Given the description of an element on the screen output the (x, y) to click on. 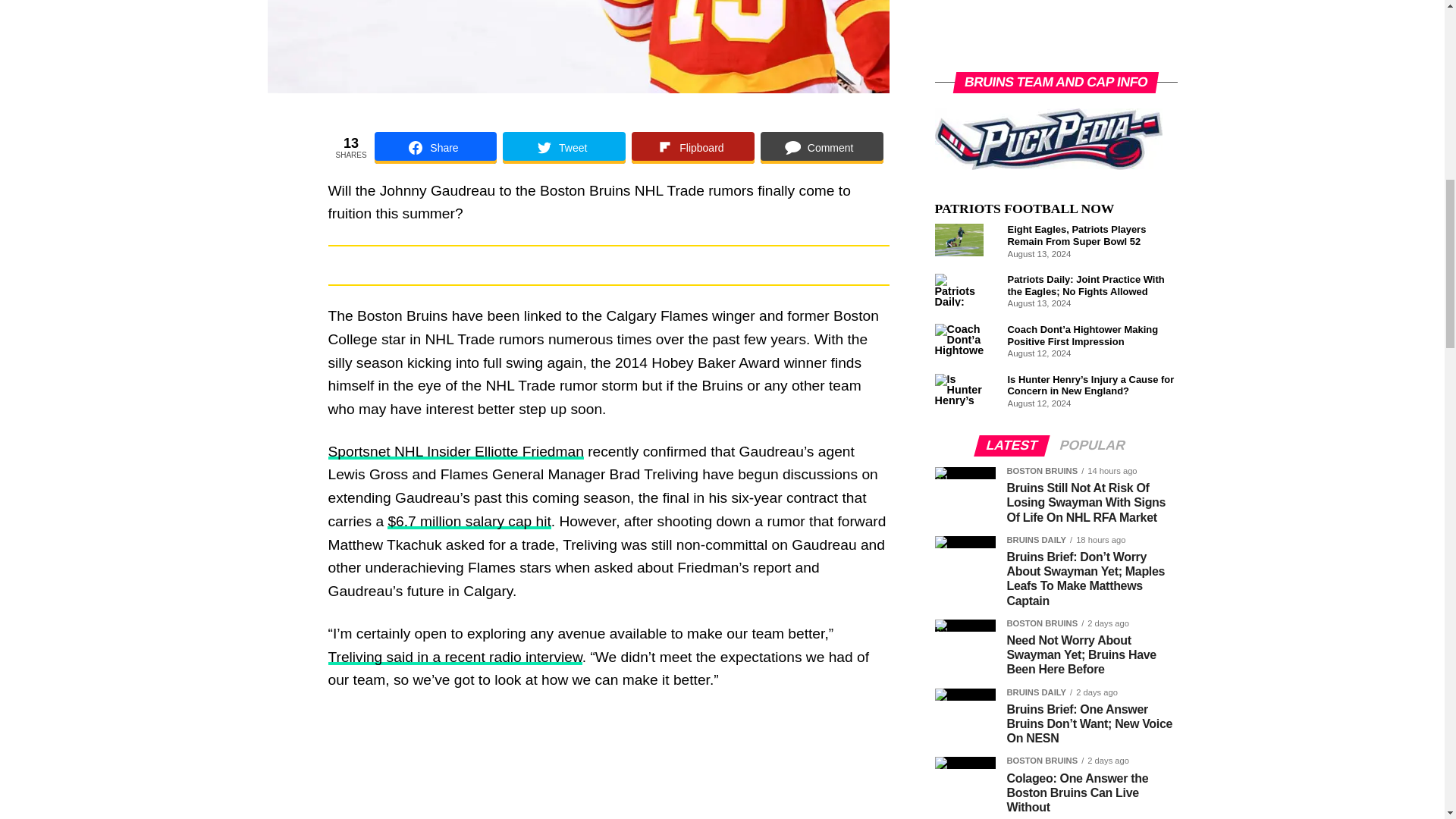
Share on Flipboard (692, 147)
Share on Comment (821, 147)
Share on Share (435, 147)
Share on Tweet (564, 147)
Bruins Team and Cap Info (1047, 138)
